Given the description of an element on the screen output the (x, y) to click on. 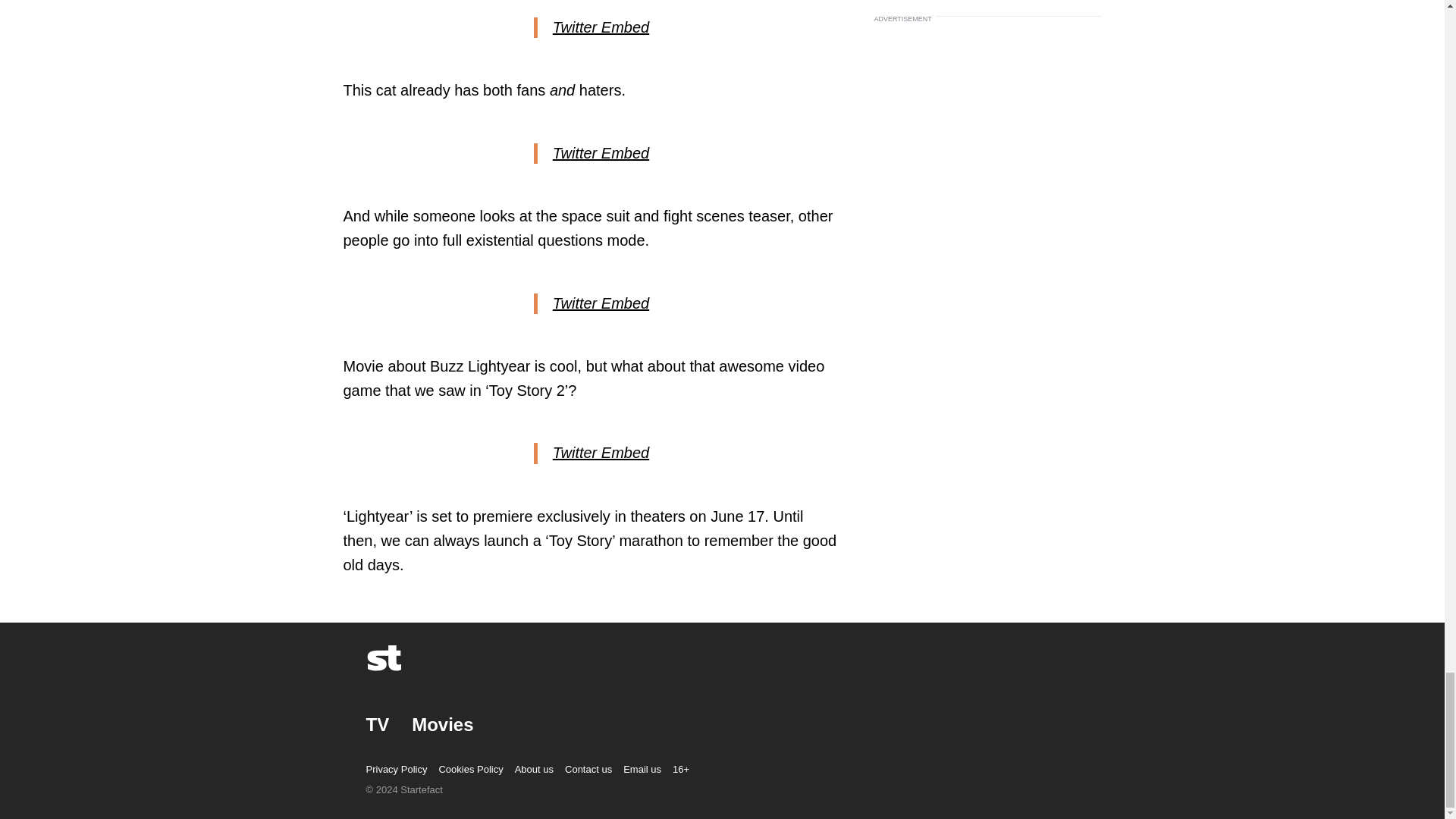
Twitter Embed (601, 303)
Twitter Embed (601, 27)
Twitter Embed (601, 152)
